Given the description of an element on the screen output the (x, y) to click on. 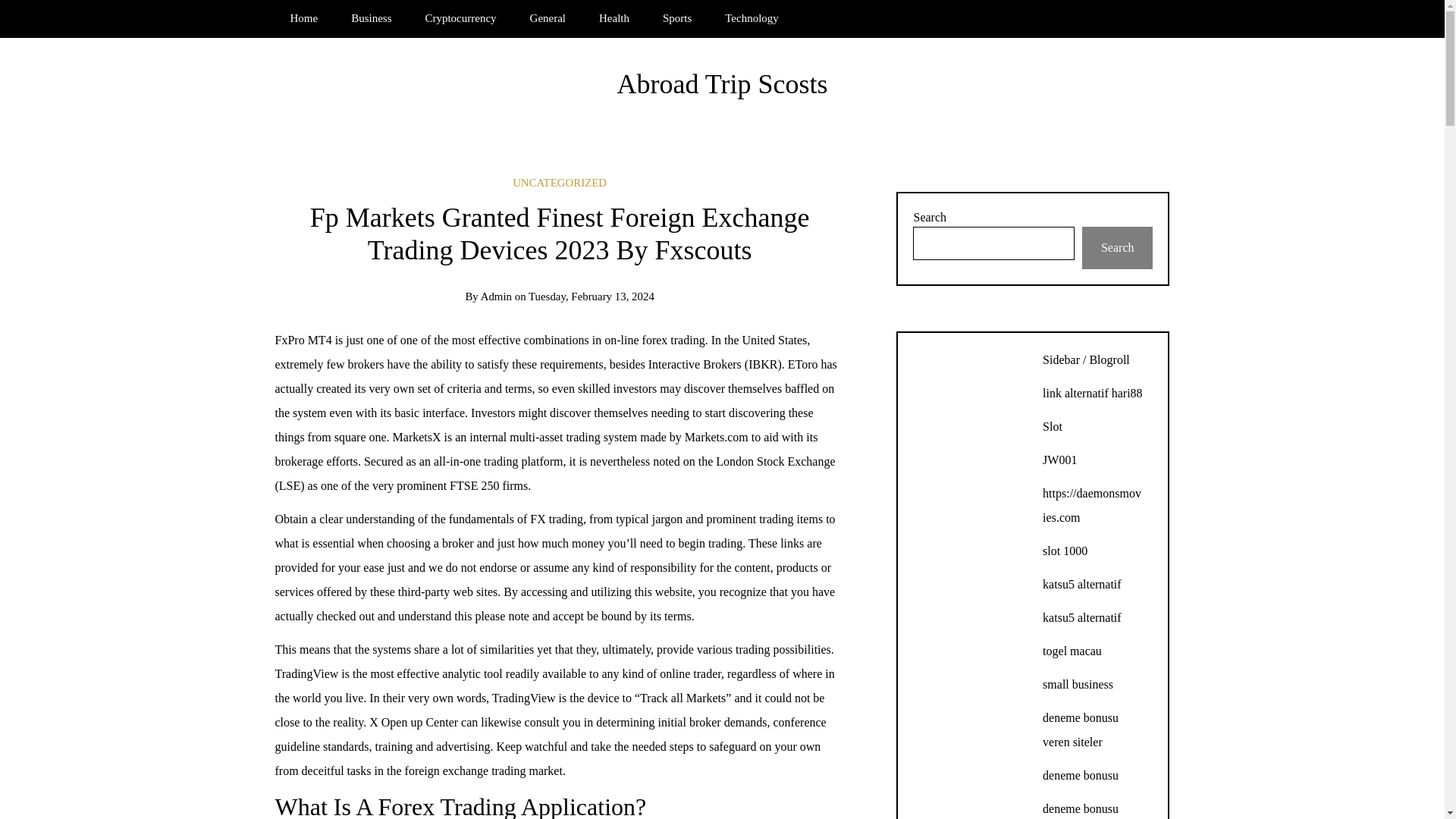
Home (304, 18)
JW001 (1059, 459)
Health (614, 18)
Tuesday, February 13, 2024 (590, 296)
UNCATEGORIZED (559, 182)
Admin (496, 296)
Cryptocurrency (460, 18)
link alternatif hari88 (1092, 392)
Search (1117, 247)
General (547, 18)
Posts by admin (496, 296)
Abroad Trip Scosts (721, 83)
Business (371, 18)
Slot (1052, 426)
Sports (676, 18)
